Given the description of an element on the screen output the (x, y) to click on. 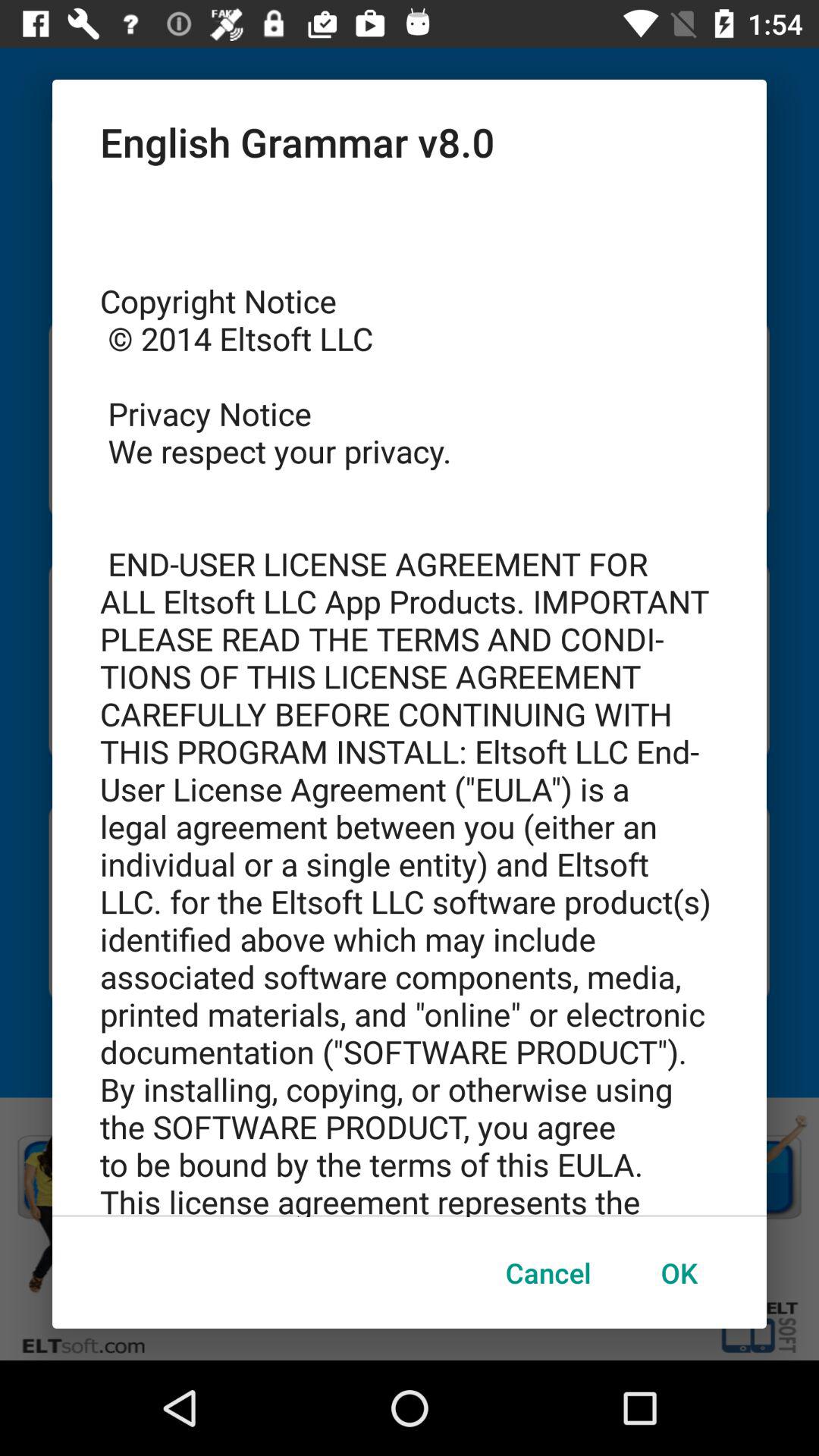
launch item below the copyright notice 2014 app (678, 1272)
